Given the description of an element on the screen output the (x, y) to click on. 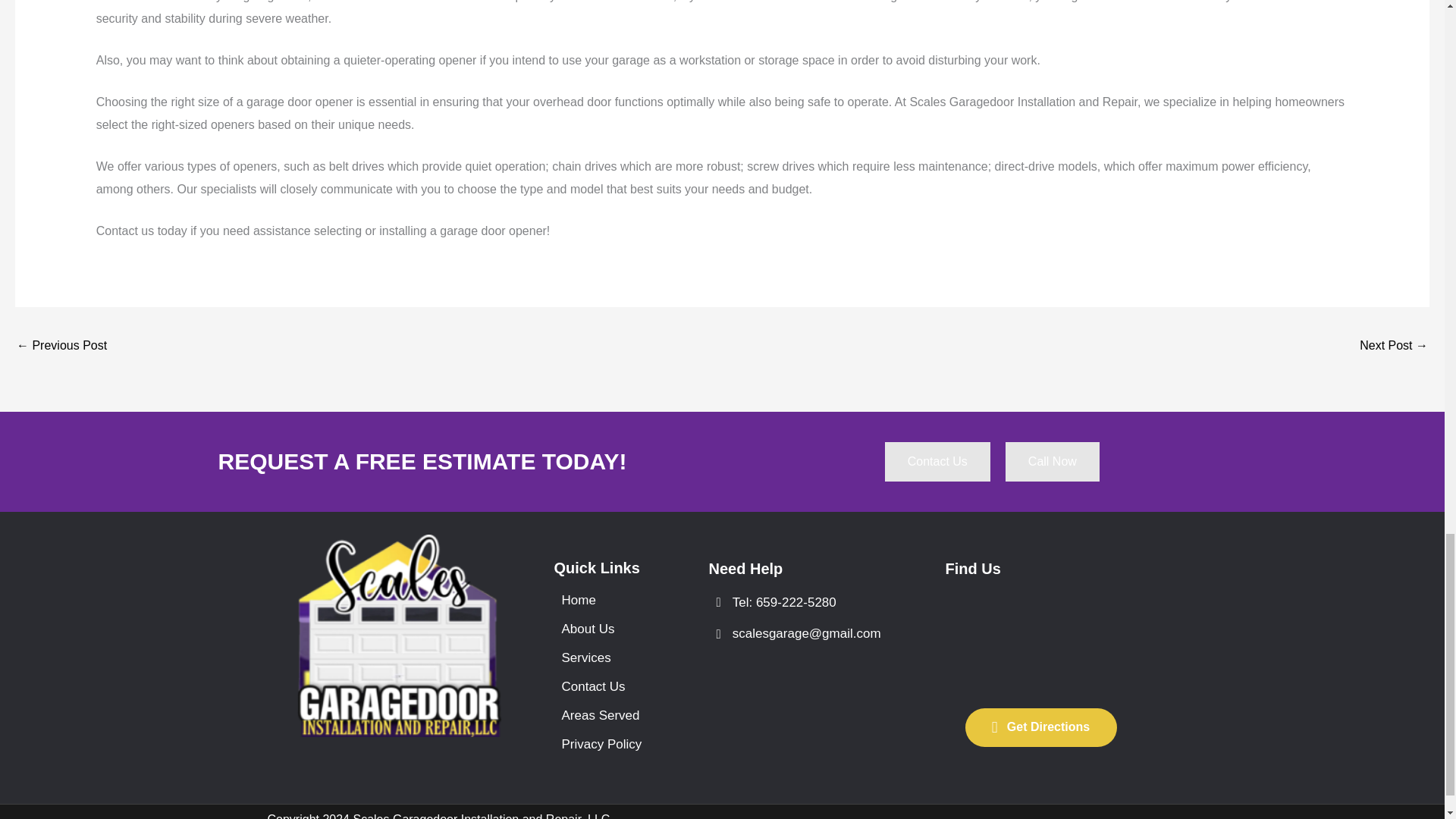
Get Directions (1039, 727)
Privacy Policy (607, 744)
Areas Served (607, 715)
Contact Us (607, 686)
Call Now (1052, 461)
Tel: 659-222-5280 (803, 603)
logo (399, 635)
Contact Us (937, 461)
Services (607, 657)
About Us (607, 628)
Why Won't My Garage Door Close (1393, 346)
Standard Garage Door Sizes: A Comprehensive Guide (61, 346)
Home (607, 600)
